Given the description of an element on the screen output the (x, y) to click on. 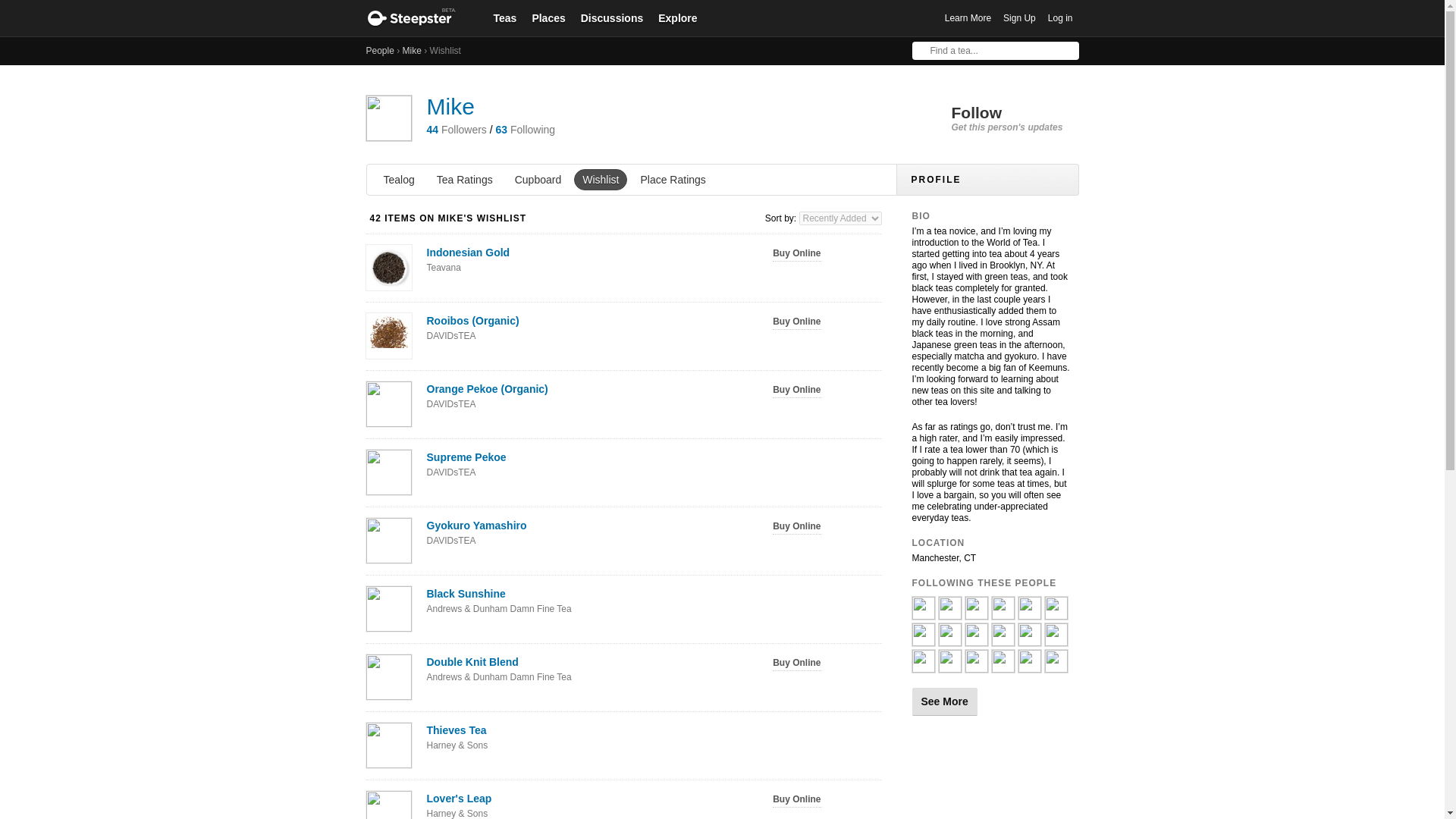
Mike (450, 106)
44 Followers (456, 129)
View DeliriumsFrogs's Tealog (975, 665)
Discussions (612, 17)
View Anlina's Tealog (949, 613)
Buy Online (797, 321)
View Tabby's Tealog (1029, 665)
Explore (677, 17)
Learn More (968, 18)
Teas (504, 17)
